Given the description of an element on the screen output the (x, y) to click on. 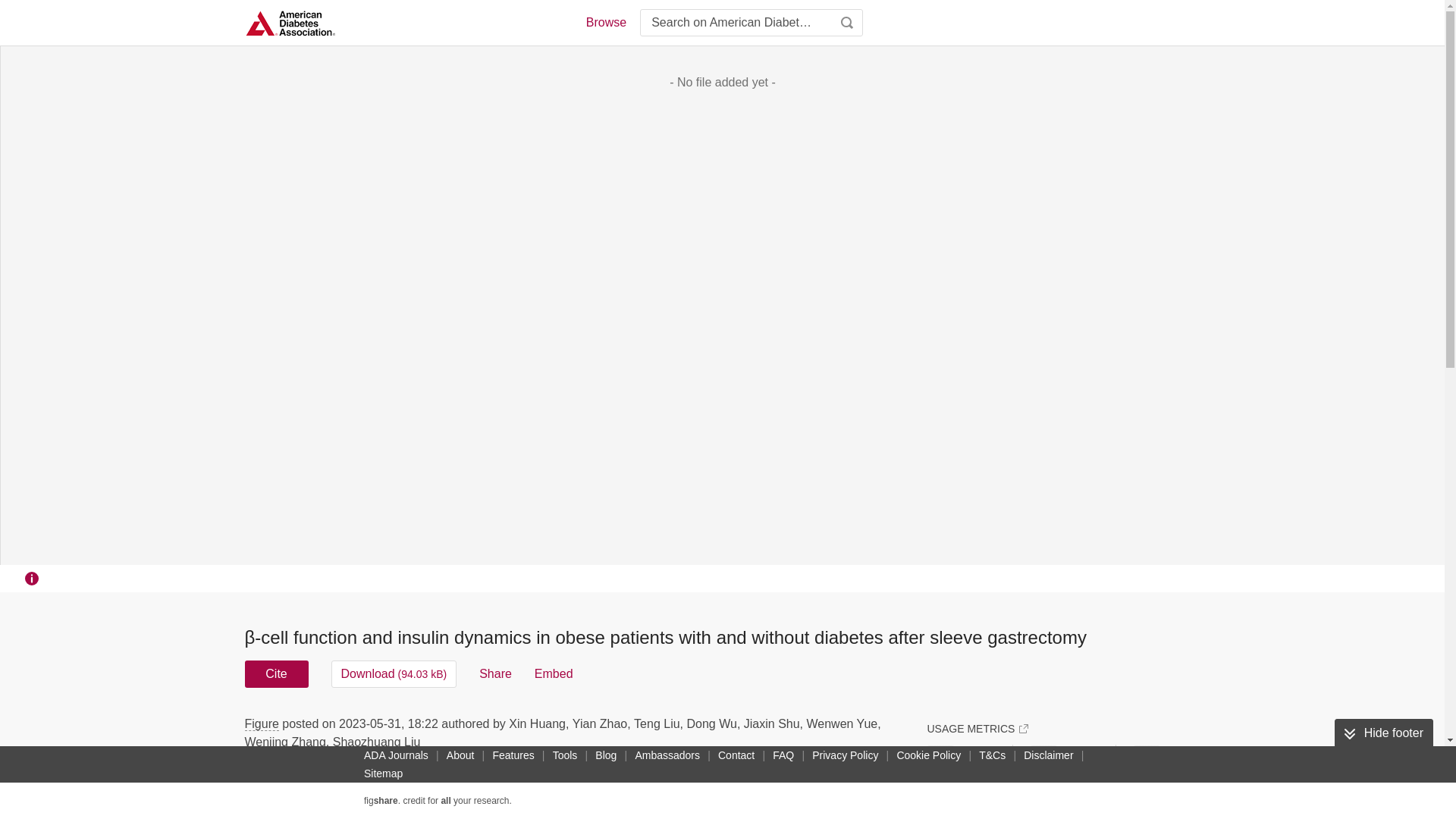
Browse (605, 22)
Ambassadors (667, 755)
Hide footer (1383, 733)
Embed (553, 673)
ADA Journals (395, 755)
Tools (565, 755)
Share (495, 673)
Blog (606, 755)
FAQ (782, 755)
USAGE METRICS (976, 728)
